Given the description of an element on the screen output the (x, y) to click on. 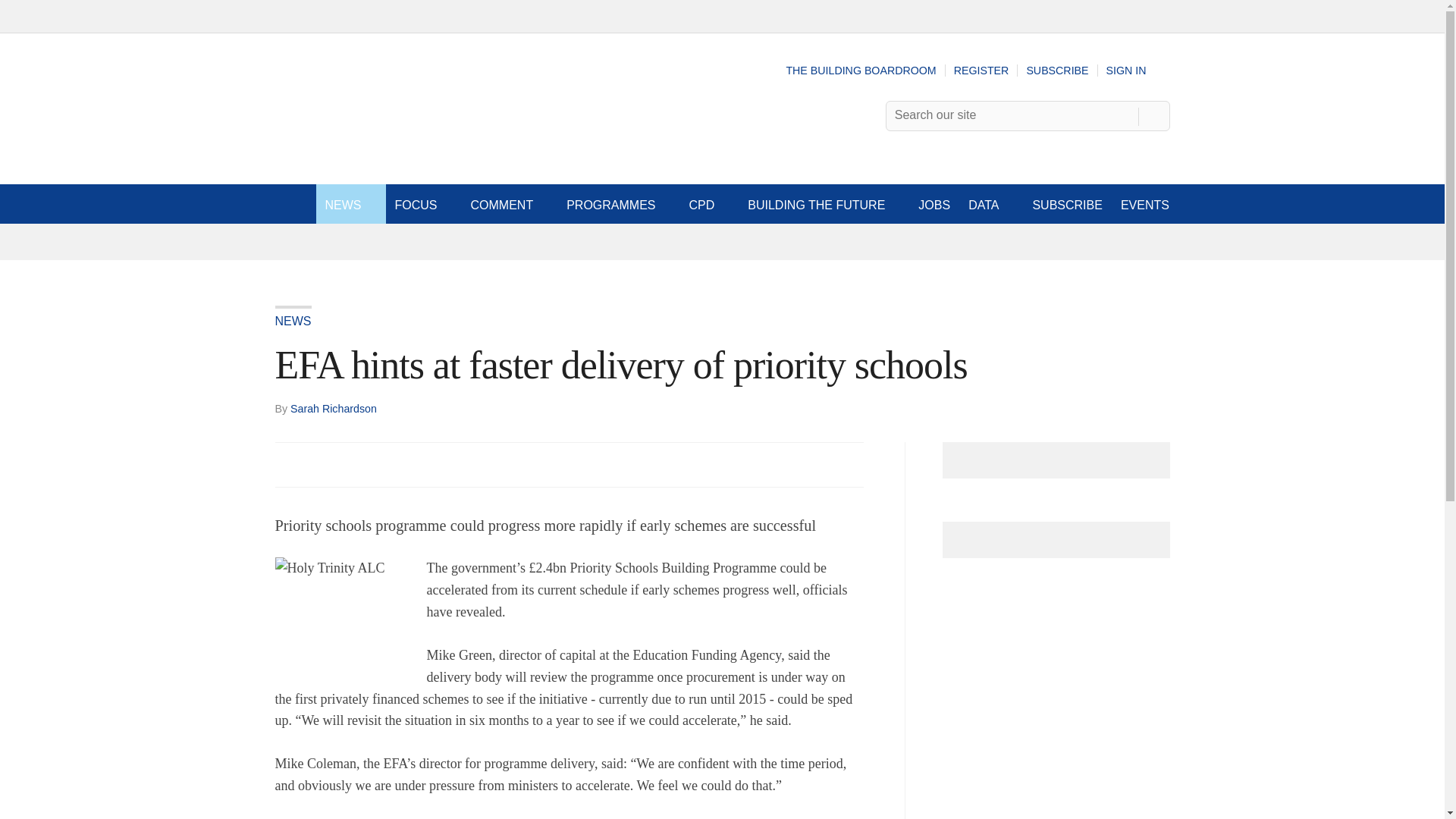
SIGN IN (1138, 70)
Insert Logo text (356, 152)
Share this on Linked in (352, 463)
Email this article (386, 463)
Share this on Facebook (288, 463)
REGISTER (981, 70)
THE BUILDING BOARDROOM (861, 70)
No comments (840, 473)
SEARCH (1153, 115)
Share this on Twitter (320, 463)
SUBSCRIBE (1056, 70)
